Given the description of an element on the screen output the (x, y) to click on. 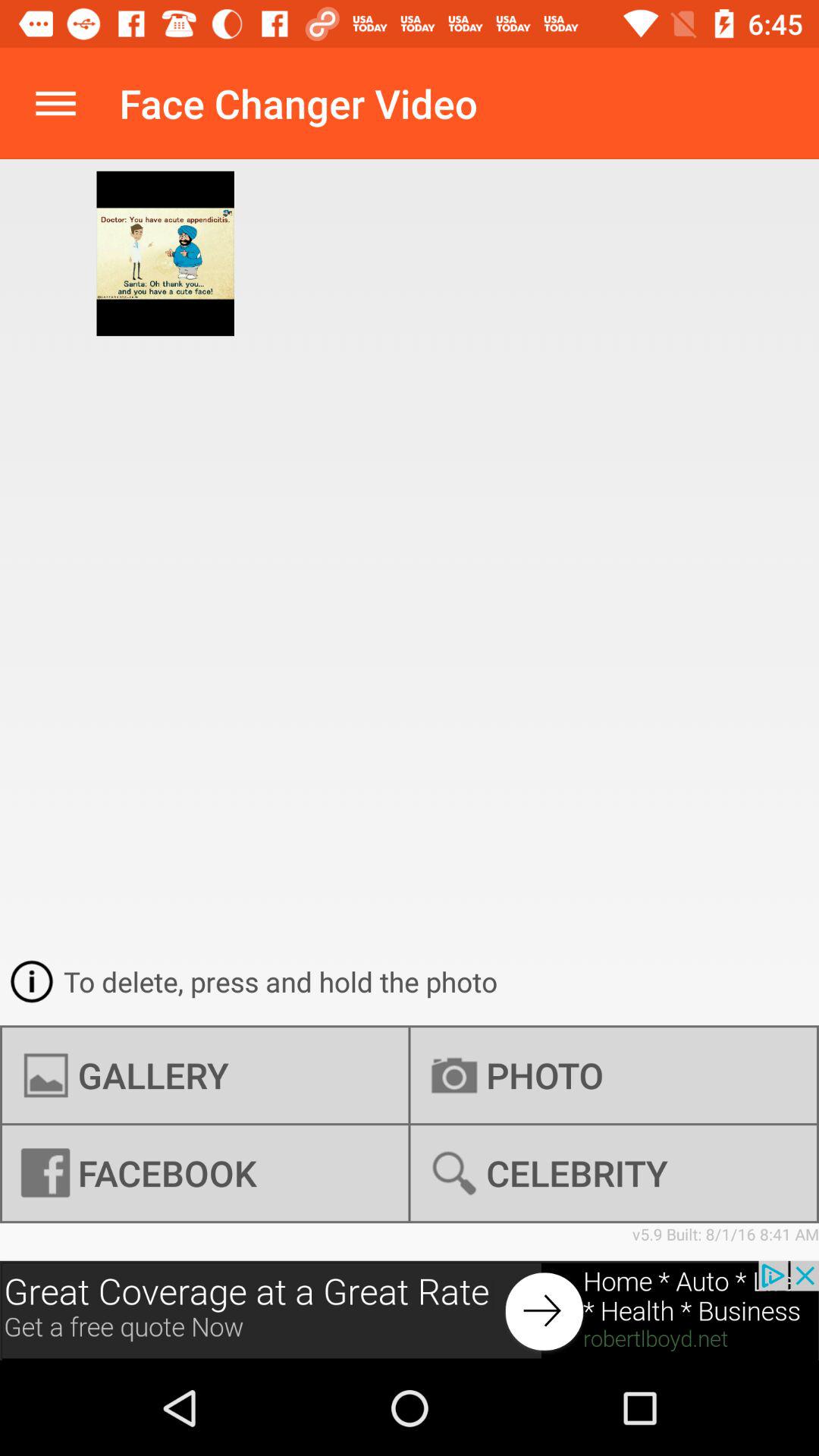
open the facebook (205, 1173)
